Given the description of an element on the screen output the (x, y) to click on. 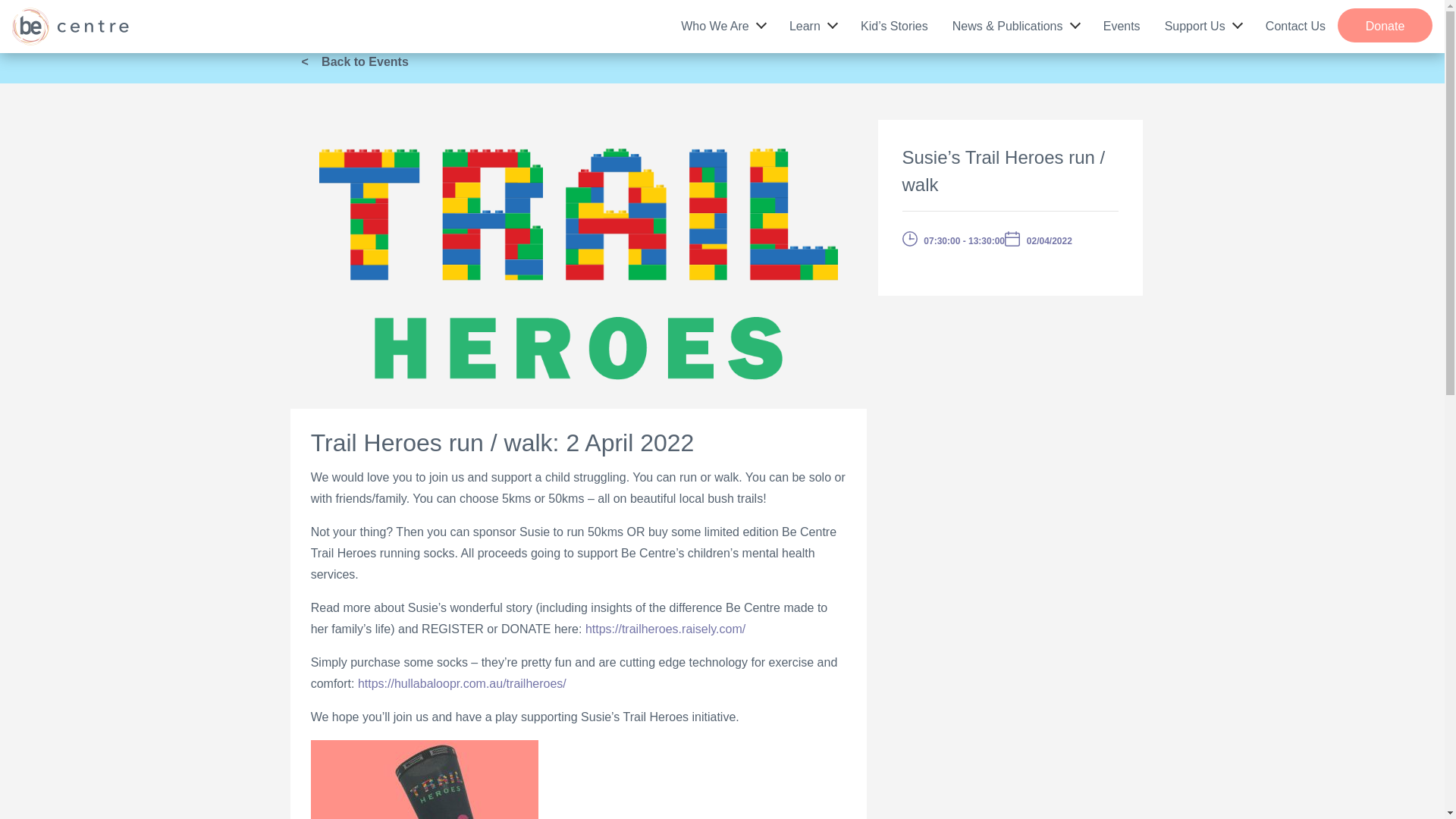
Learn (812, 23)
Events (1121, 23)
Donate (1385, 25)
Events (1121, 23)
Learn (812, 23)
Support Us (1203, 23)
Contact Us (1295, 23)
Who We Are (722, 23)
Who We Are (722, 23)
Back to Events (360, 61)
